Given the description of an element on the screen output the (x, y) to click on. 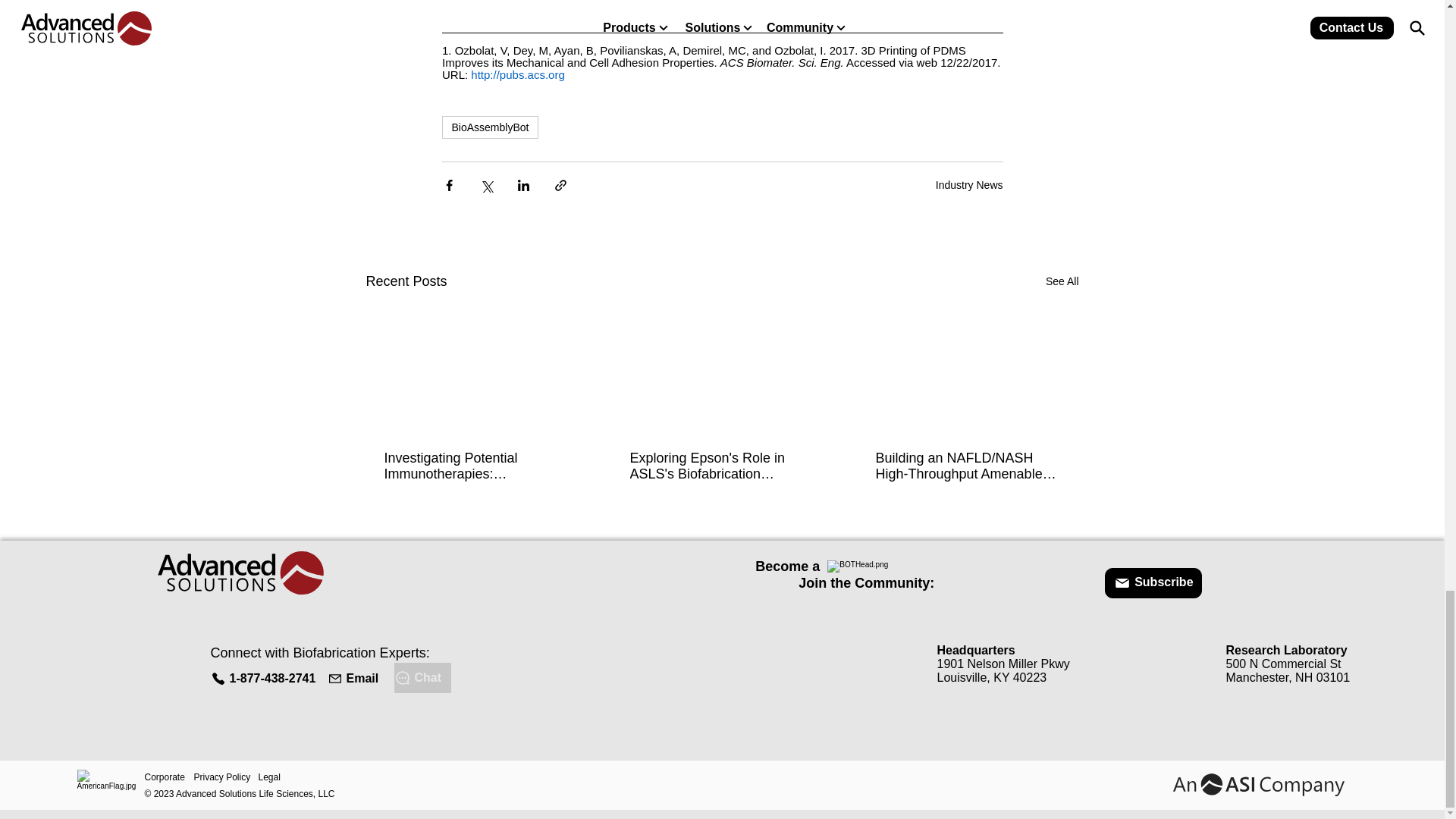
BioAssemblyBot (489, 127)
1-877-438-2741 (265, 678)
Corporate (168, 776)
Privacy Policy (226, 776)
Industry News (969, 184)
Home (60, 570)
See All (1061, 281)
Chat (422, 677)
500 N Commercial St (1282, 663)
